Given the description of an element on the screen output the (x, y) to click on. 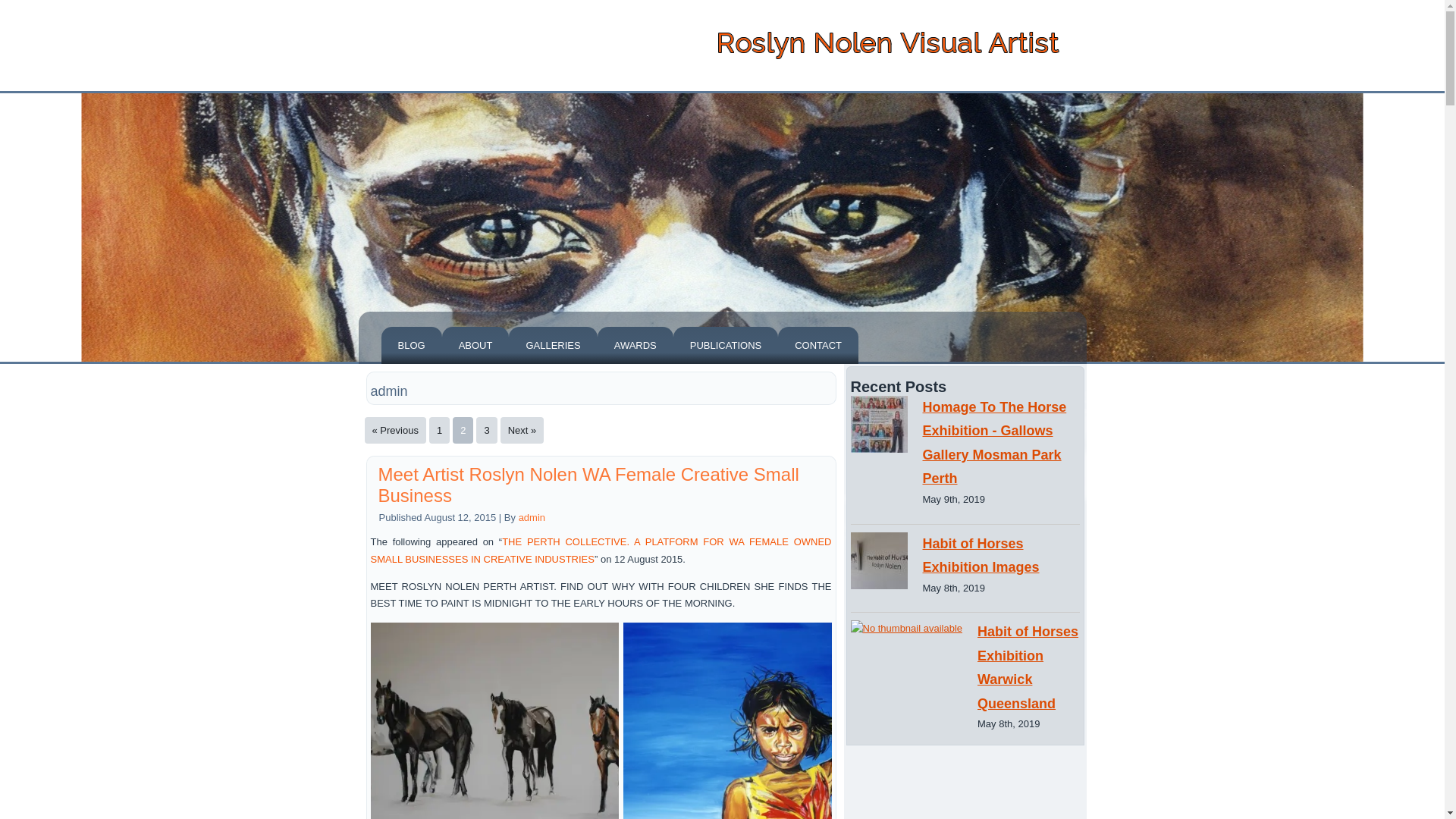
CONTACT (818, 344)
AWARDS (634, 344)
ABOUT (475, 344)
Contact (818, 344)
Galleries (552, 344)
PUBLICATIONS (724, 344)
View all posts by admin (531, 517)
Publications (724, 344)
BLOG (410, 344)
